Given the description of an element on the screen output the (x, y) to click on. 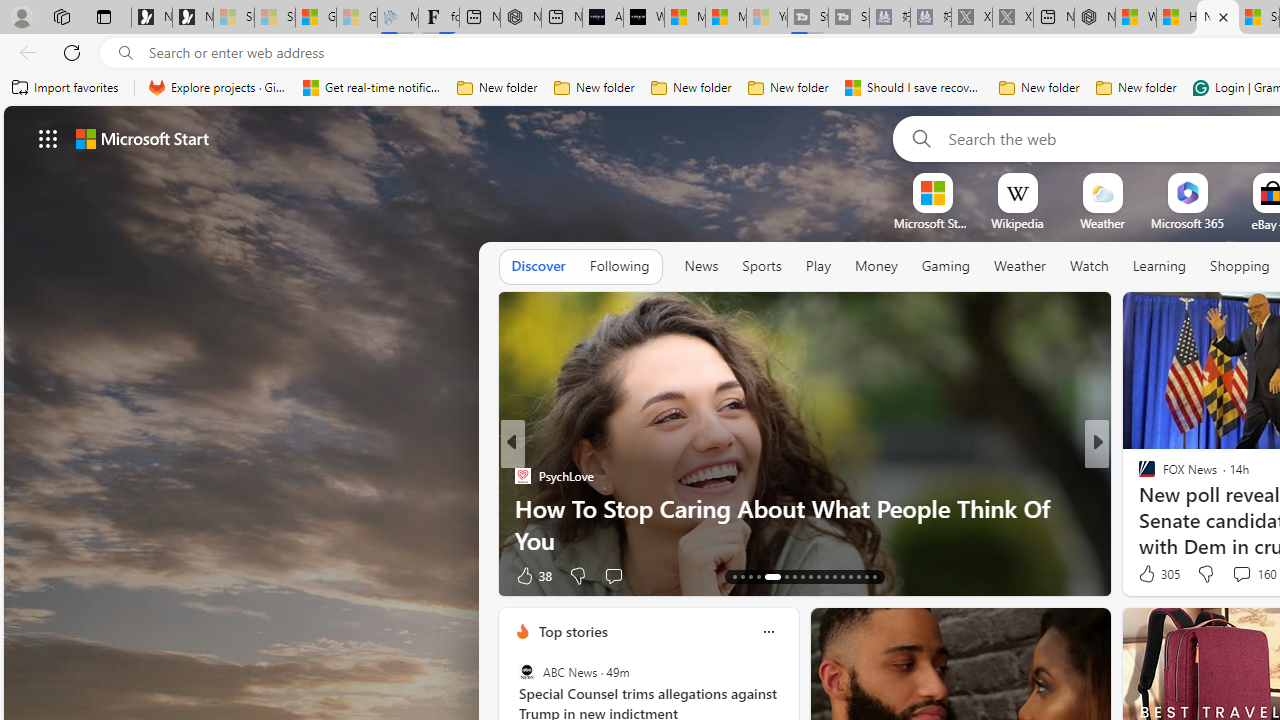
AutomationID: tab-42 (865, 576)
Eat This, Not That! (1138, 507)
Should I save recovered Word documents? - Microsoft Support (913, 88)
View comments 1k Comment (1228, 575)
Top stories (572, 631)
Class: control (47, 138)
View comments 107 Comment (1234, 575)
View comments 1k Comment (1236, 574)
Import favorites (65, 88)
